Given the description of an element on the screen output the (x, y) to click on. 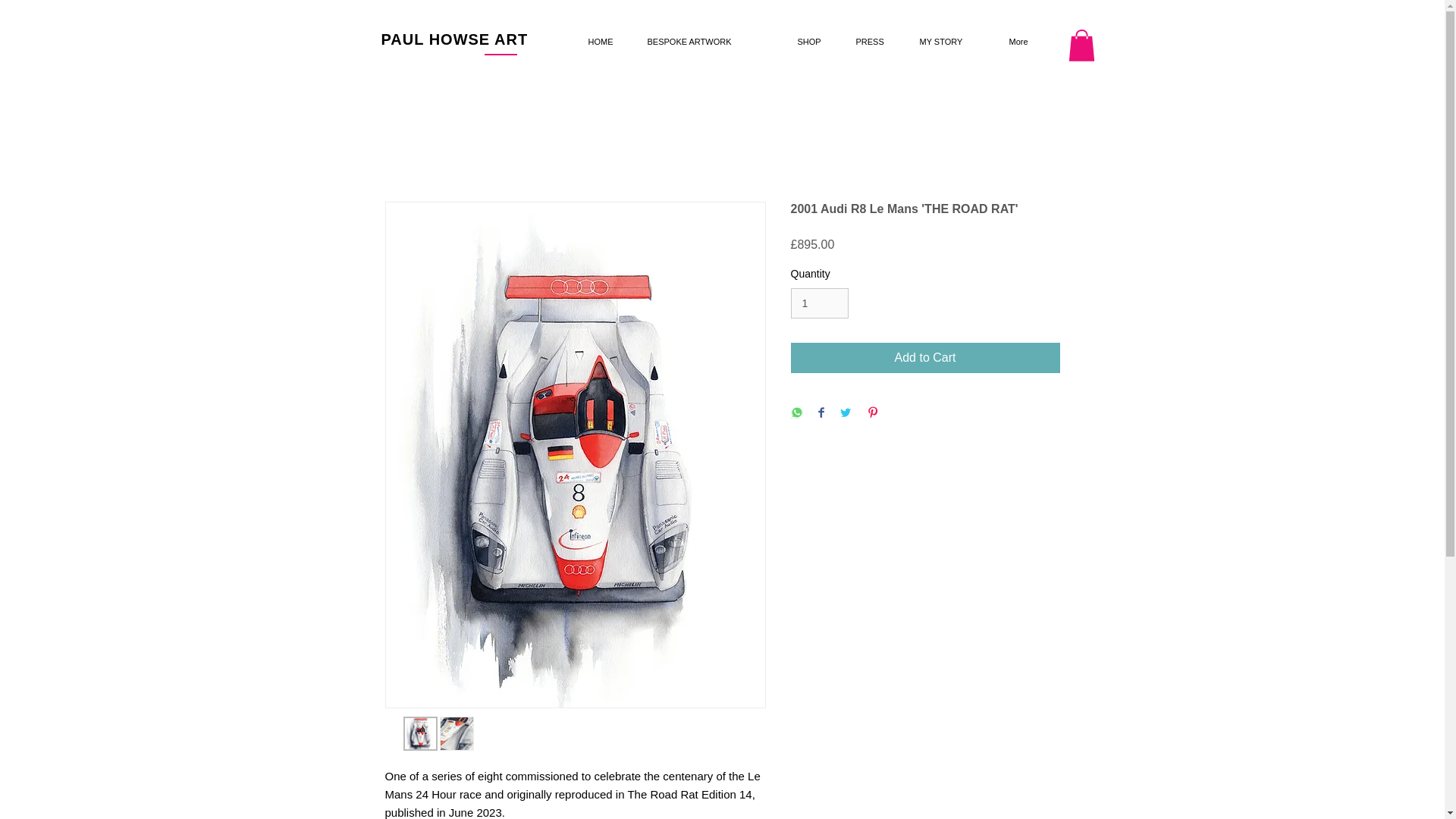
PRESS (876, 41)
MY STORY (952, 41)
1 (818, 303)
SHOP (815, 41)
PAUL HOWSE ART (453, 39)
HOME (605, 41)
BESPOKE ARTWORK (710, 41)
Add to Cart (924, 358)
